Given the description of an element on the screen output the (x, y) to click on. 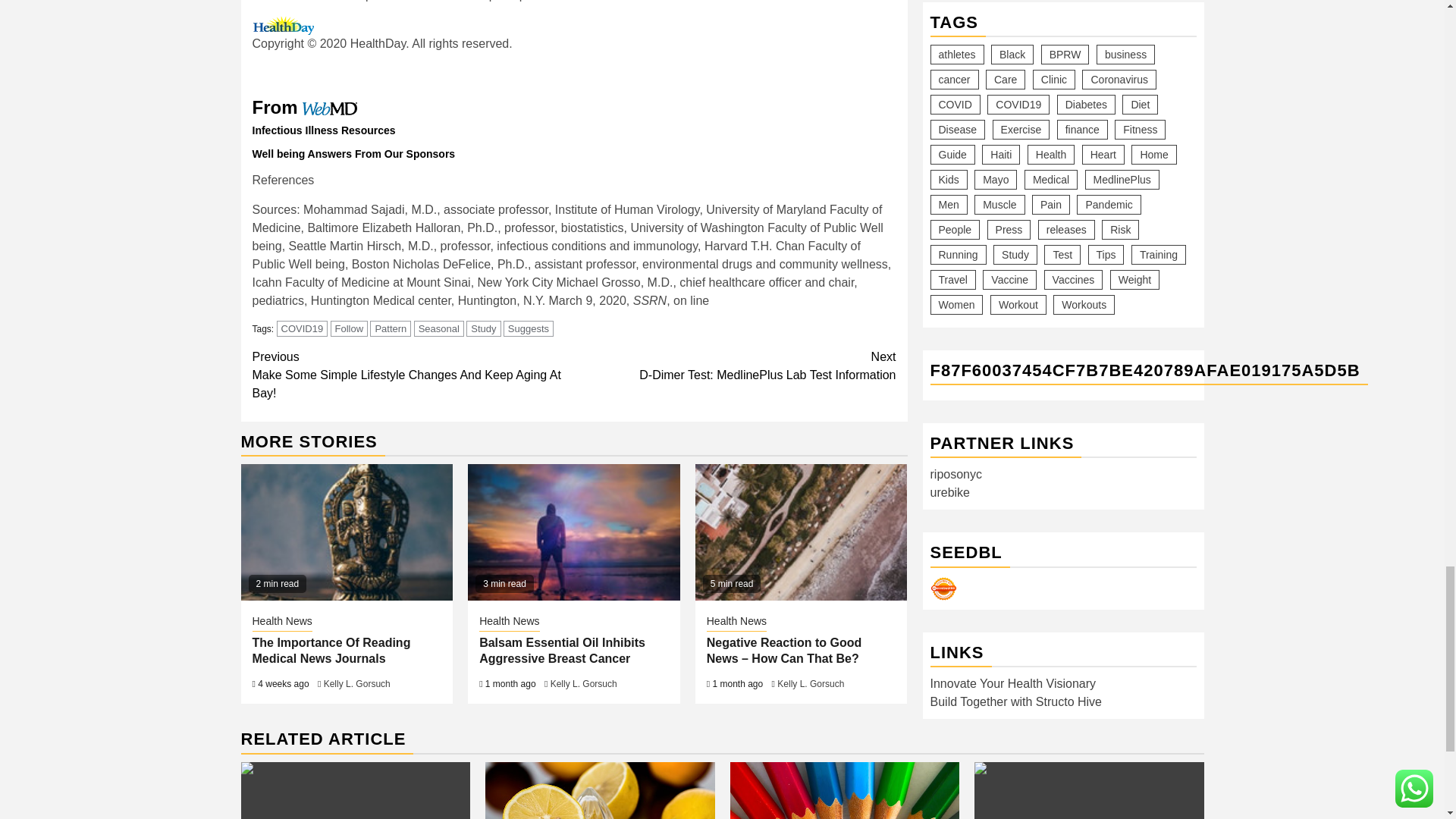
Balsam Essential Oil Inhibits Aggressive Breast Cancer (573, 532)
Seasonal (438, 328)
The Importance Of Reading Medical News Journals (346, 532)
Suggests (734, 366)
Study (528, 328)
Pattern (482, 328)
COVID19 (389, 328)
Follow (302, 328)
